Given the description of an element on the screen output the (x, y) to click on. 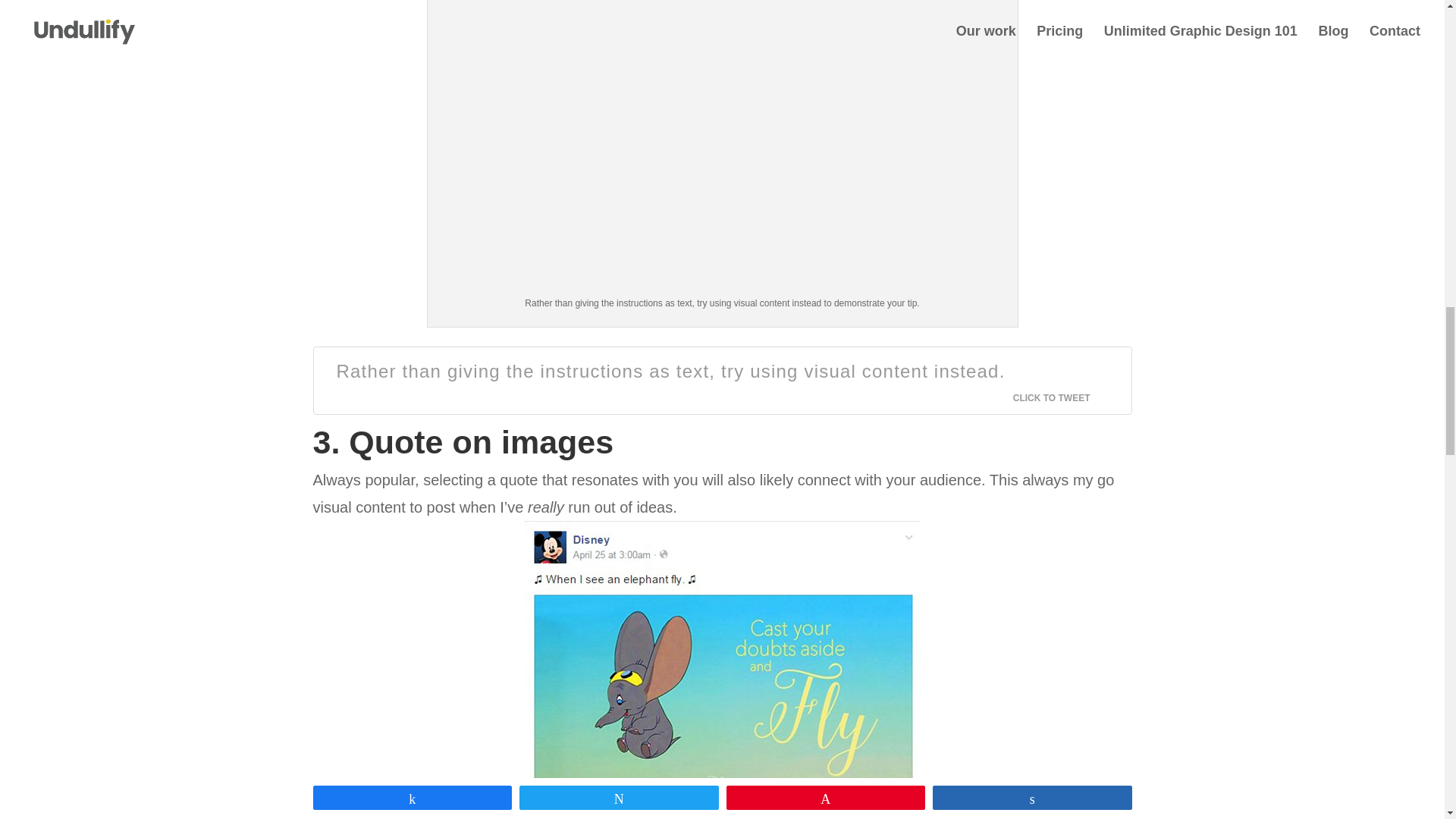
CLICK TO TWEET (1060, 397)
